Given the description of an element on the screen output the (x, y) to click on. 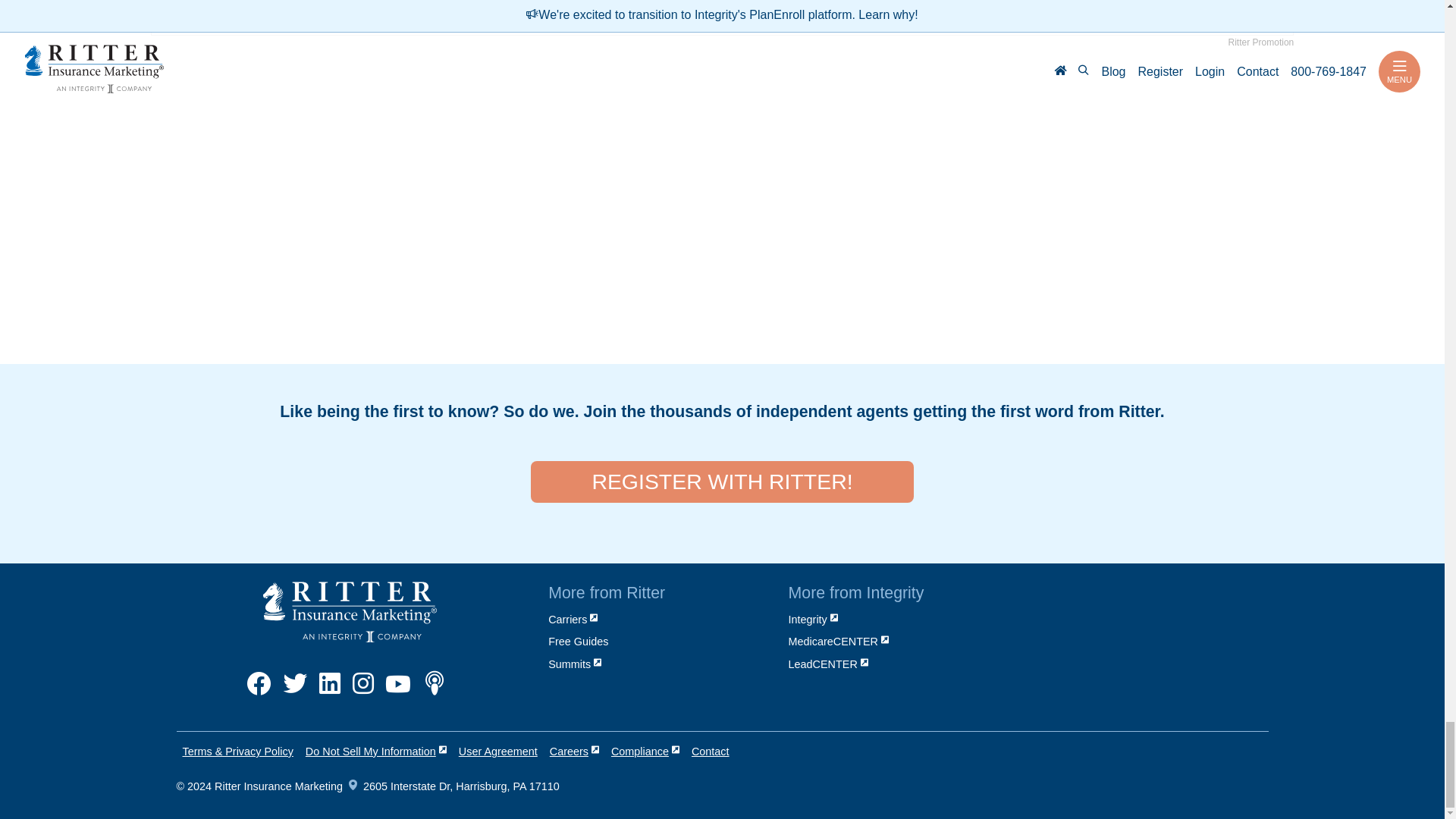
instagram (363, 691)
linkedin (329, 691)
twitter (294, 691)
facebook (258, 691)
youtube (397, 691)
podcast (434, 691)
